Given the description of an element on the screen output the (x, y) to click on. 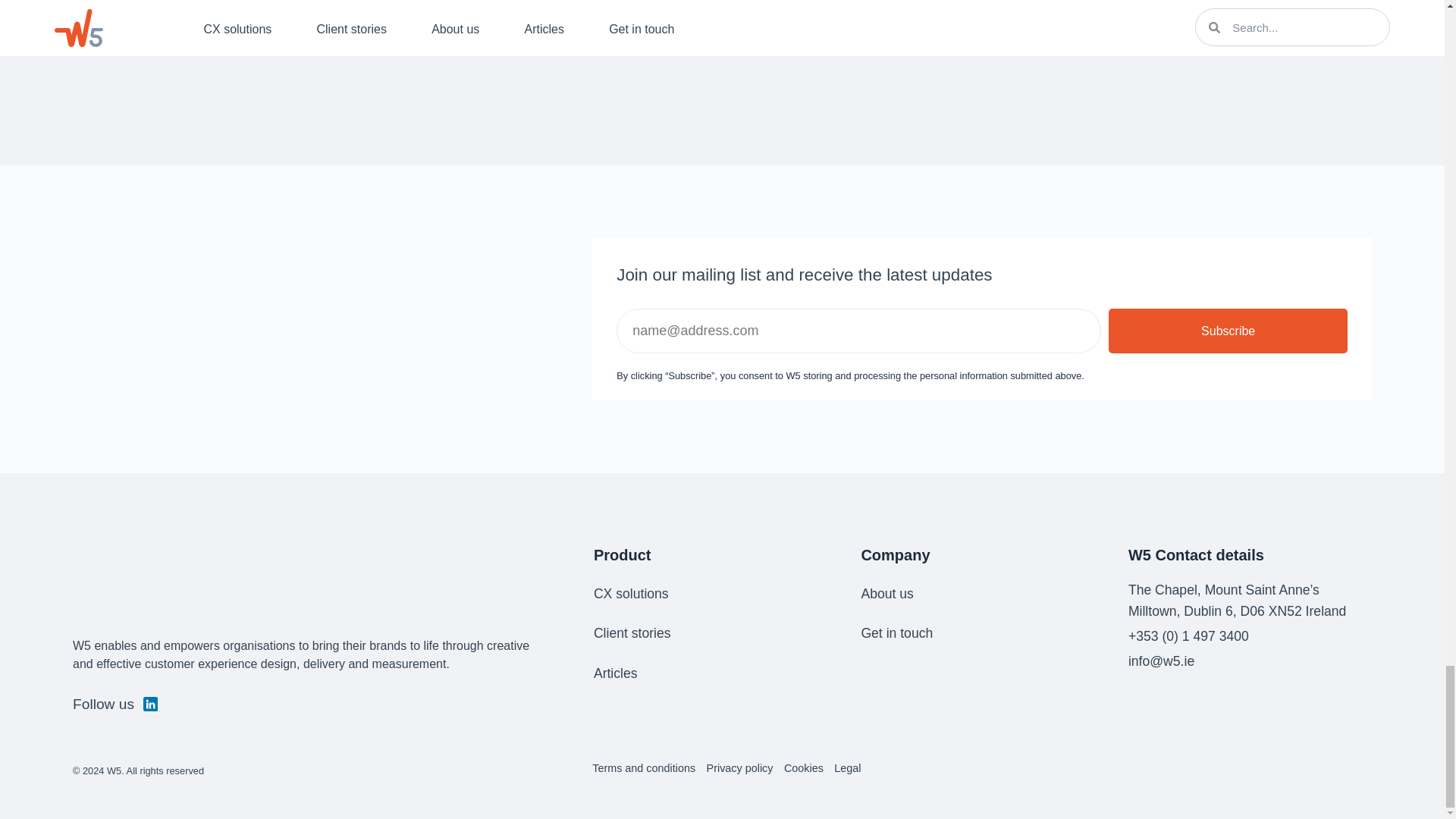
Subscribe (1228, 330)
Follow us (114, 704)
